Given the description of an element on the screen output the (x, y) to click on. 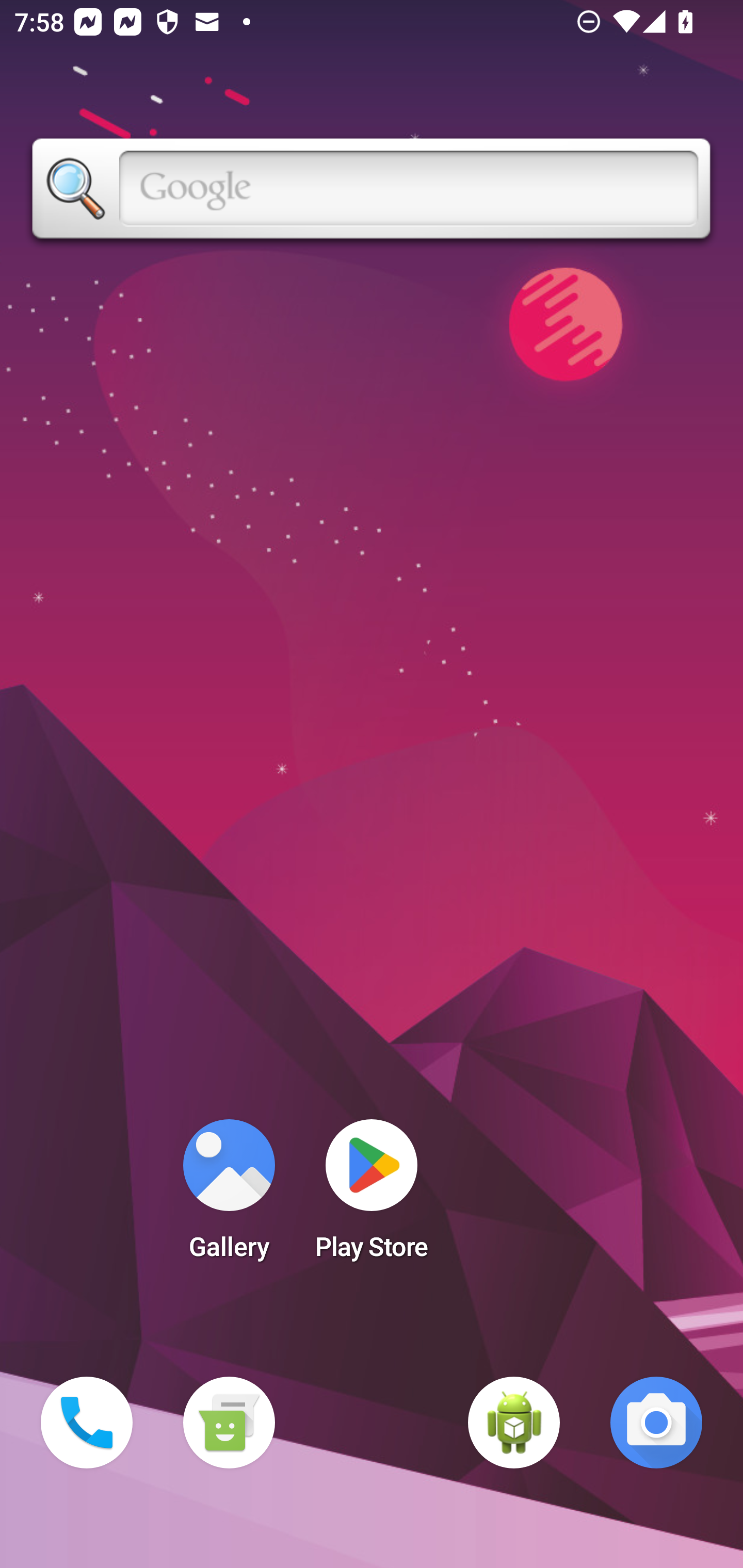
Gallery (228, 1195)
Play Store (371, 1195)
Phone (86, 1422)
Messaging (228, 1422)
WebView Browser Tester (513, 1422)
Camera (656, 1422)
